Given the description of an element on the screen output the (x, y) to click on. 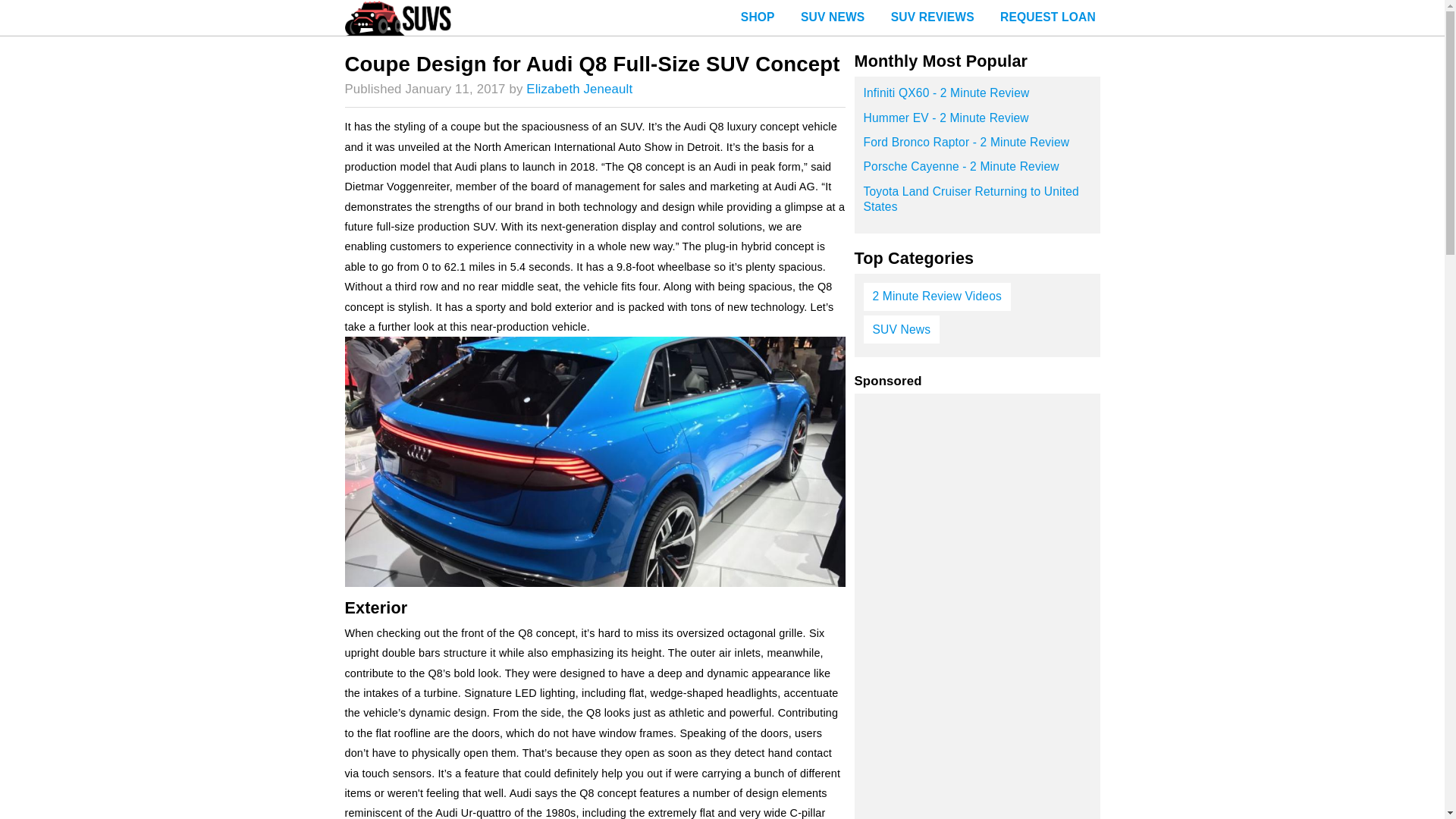
Infiniti QX60 - 2 Minute Review (976, 97)
SUV News (901, 329)
SHOP (757, 18)
Ford Bronco Raptor - 2 Minute Review (976, 146)
2 Minute Review Videos (936, 296)
SUV NEWS (832, 18)
Porsche Cayenne - 2 Minute Review (976, 170)
Hummer EV - 2 Minute Review (976, 122)
Elizabeth Jeneault (578, 88)
SUV REVIEWS (932, 18)
